Given the description of an element on the screen output the (x, y) to click on. 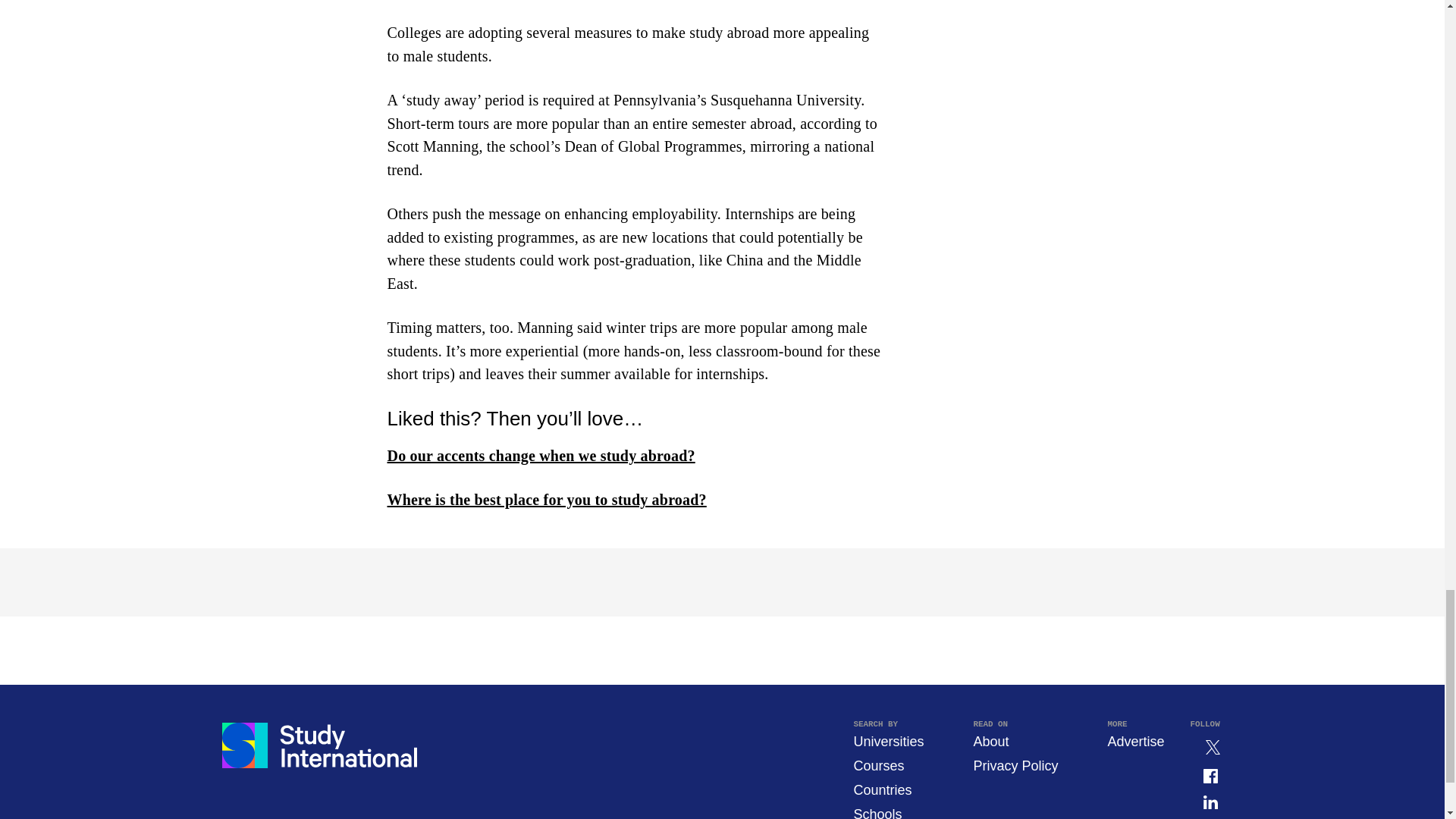
Do our accents change when we study abroad? (540, 455)
Universities (888, 741)
Where is the best place for you to study abroad? (546, 499)
